Given the description of an element on the screen output the (x, y) to click on. 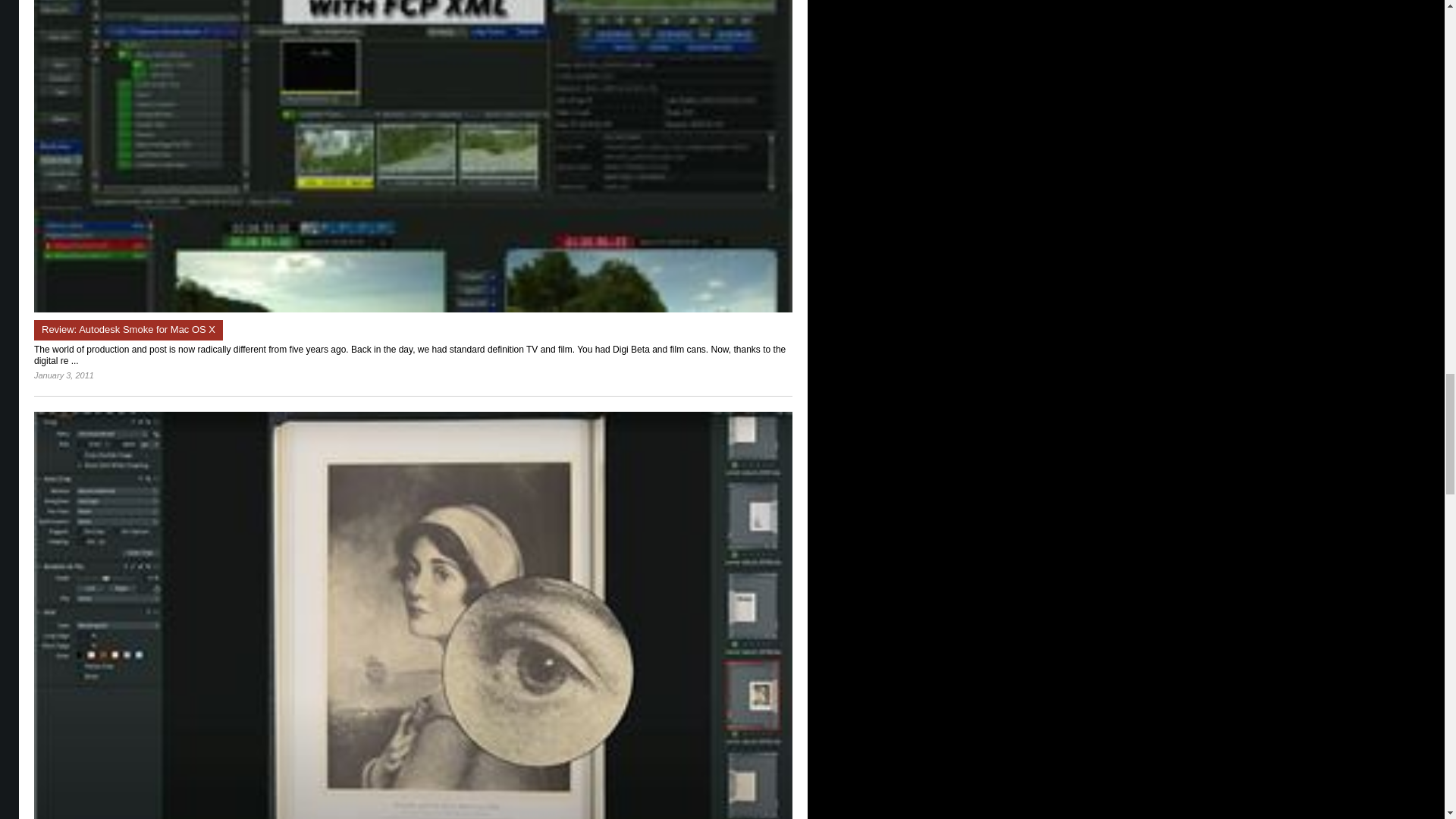
Review: Autodesk Smoke for Mac OS X (127, 330)
Review: Autodesk Smoke for Mac OS X (412, 308)
